Given the description of an element on the screen output the (x, y) to click on. 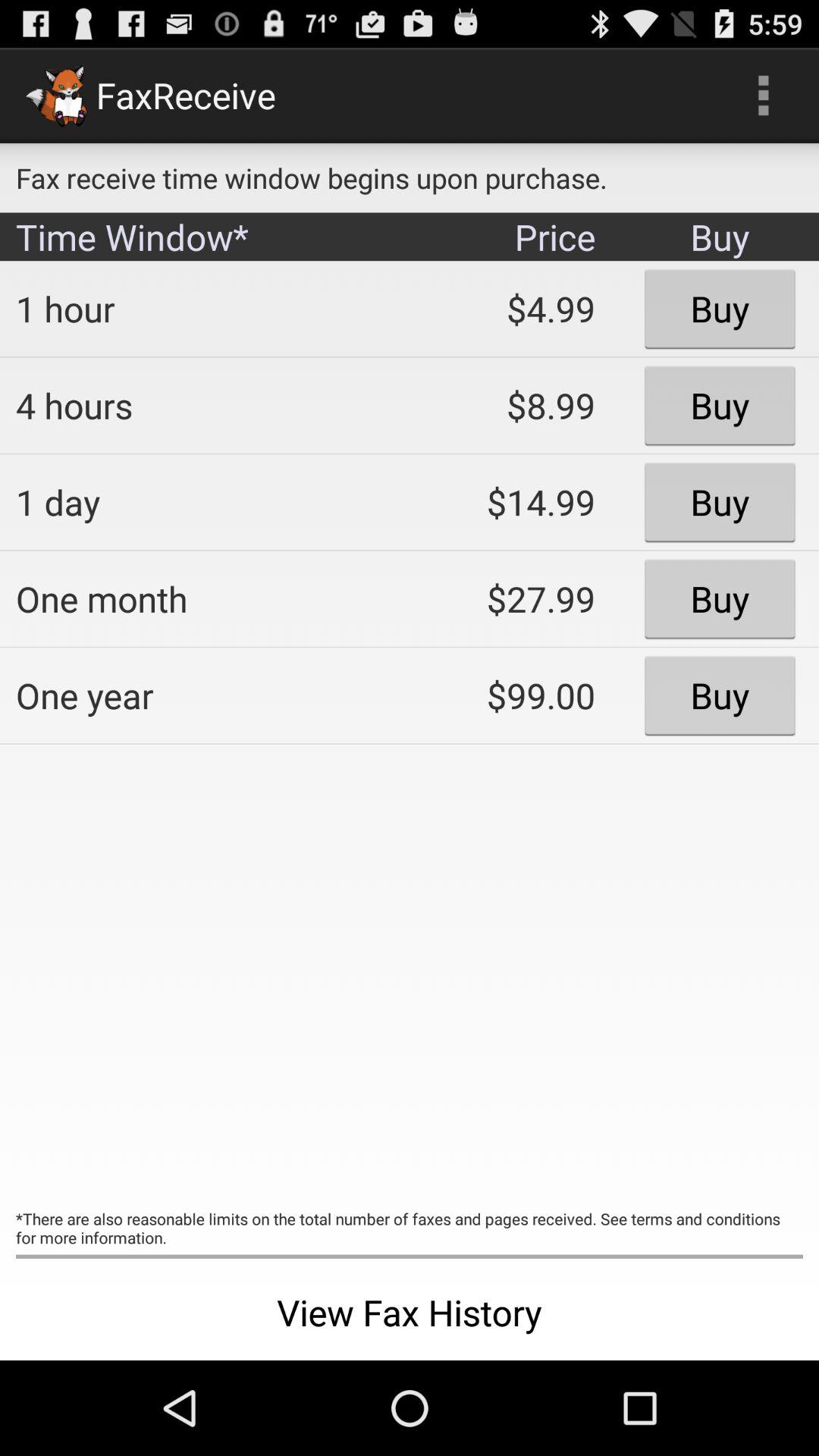
select the icon to the left of the price item (201, 308)
